Given the description of an element on the screen output the (x, y) to click on. 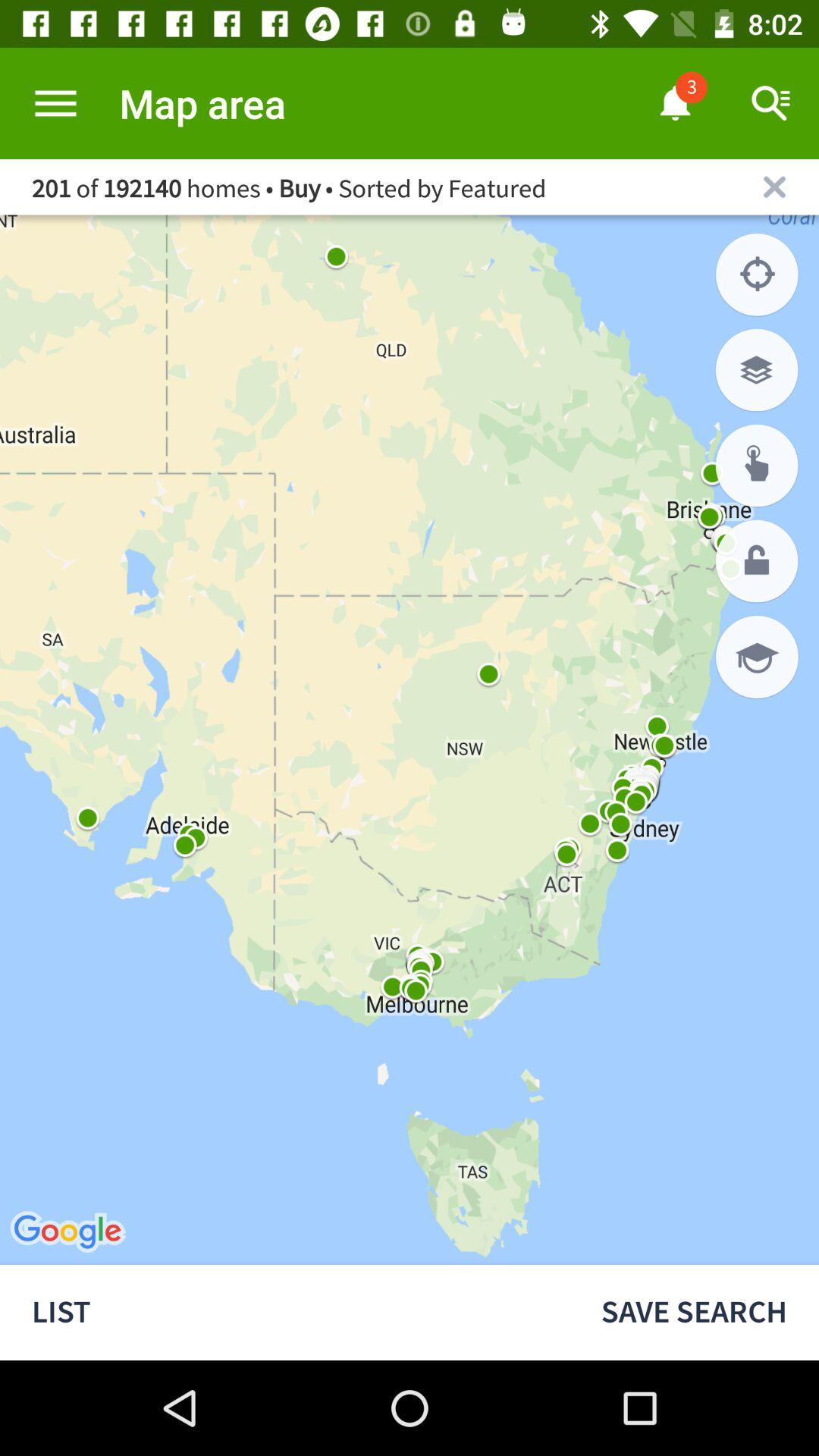
show your location (756, 274)
